Given the description of an element on the screen output the (x, y) to click on. 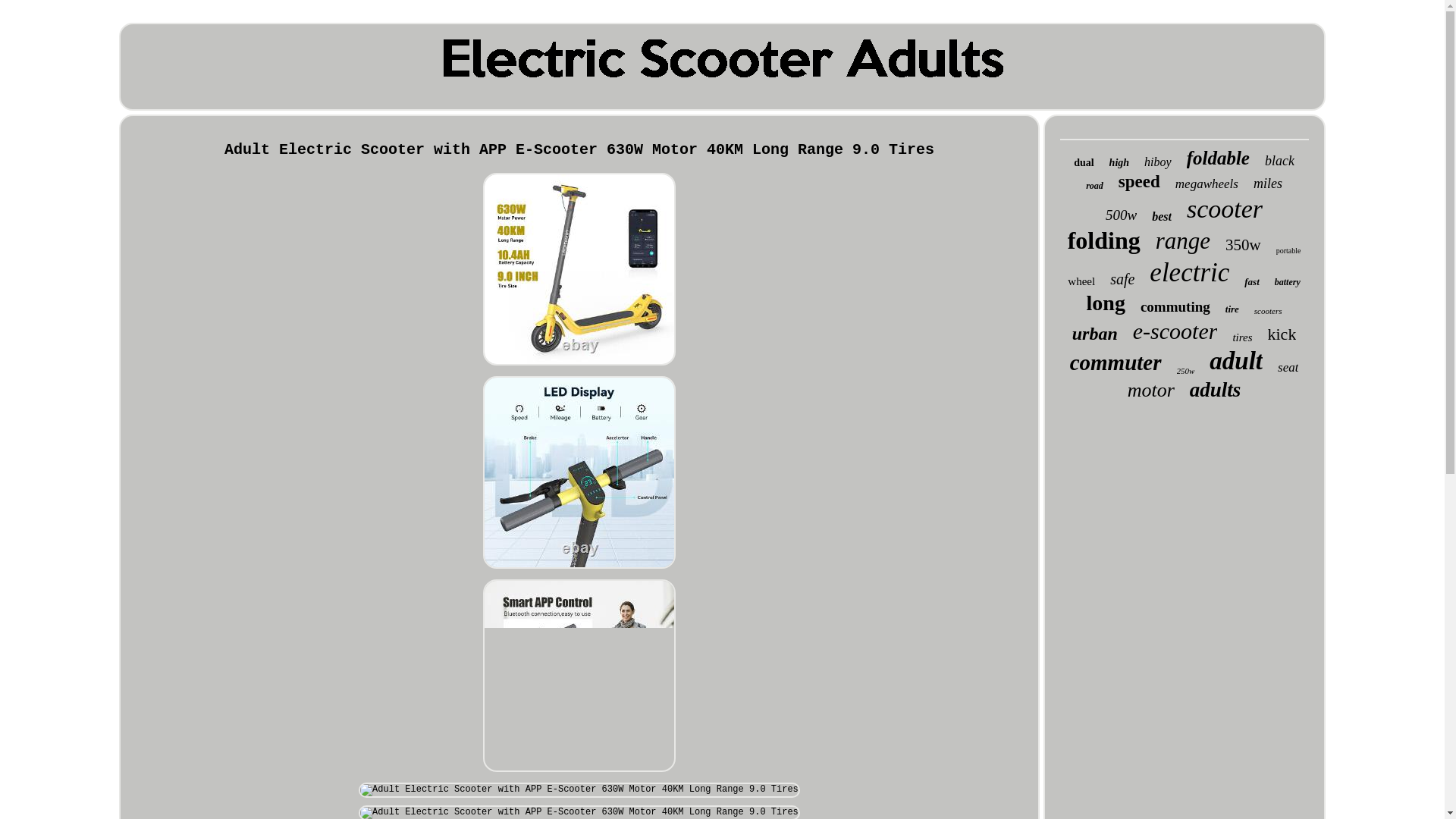
500w (1121, 215)
speed (1139, 181)
long (1105, 303)
wheel (1080, 281)
scooters (1267, 310)
fast (1251, 282)
350w (1242, 244)
black (1279, 160)
foldable (1217, 158)
battery (1287, 282)
road (1094, 185)
